Given the description of an element on the screen output the (x, y) to click on. 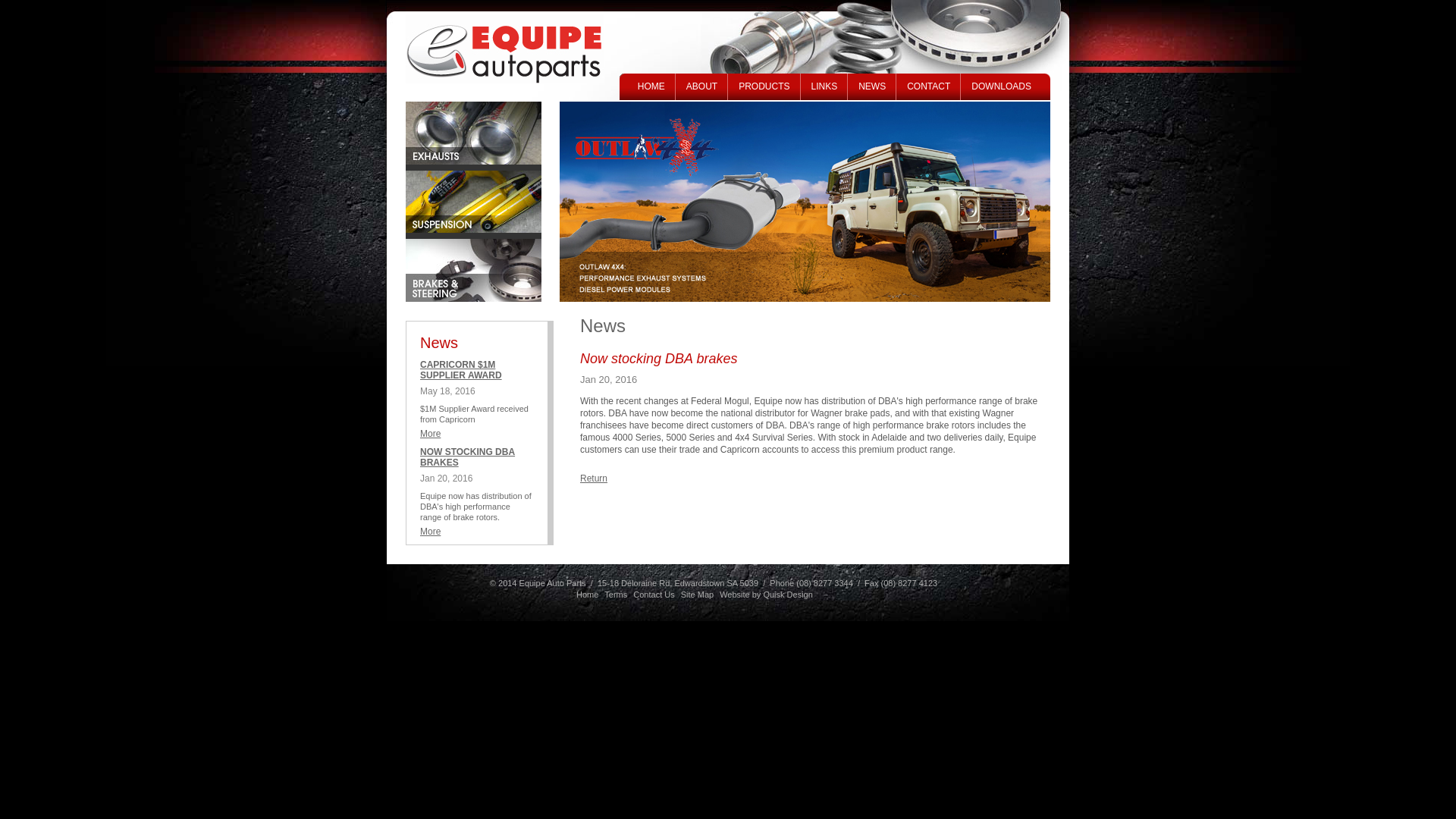
Return Element type: text (593, 478)
Site Map Element type: text (696, 594)
NEWS Element type: text (871, 86)
More Element type: text (430, 433)
CAPRICORN $1M SUPPLIER AWARD Element type: text (461, 369)
Contact Us Element type: text (653, 594)
More Element type: text (430, 531)
Home Element type: text (587, 594)
HOME Element type: text (651, 86)
LINKS Element type: text (824, 86)
PRODUCTS Element type: text (763, 86)
CONTACT Element type: text (928, 86)
NOW STOCKING DBA BRAKES Element type: text (467, 456)
ABOUT Element type: text (701, 86)
DOWNLOADS Element type: text (1001, 86)
Terms Element type: text (615, 594)
Website by Quisk Design Element type: text (765, 594)
